Given the description of an element on the screen output the (x, y) to click on. 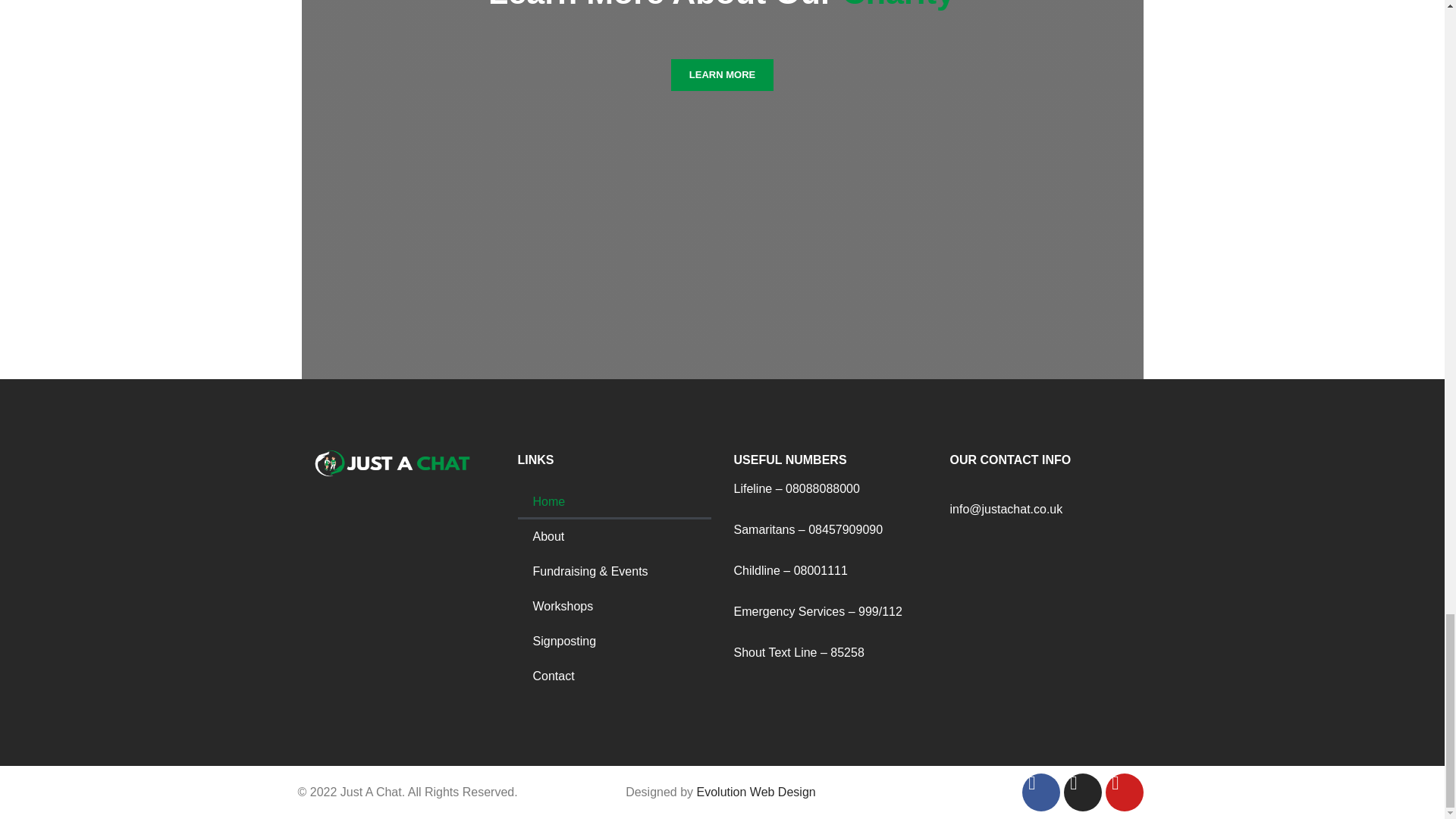
LEARN MORE (722, 74)
Workshops (613, 606)
Signposting (613, 641)
Home (613, 501)
About (613, 536)
Contact (613, 676)
